Given the description of an element on the screen output the (x, y) to click on. 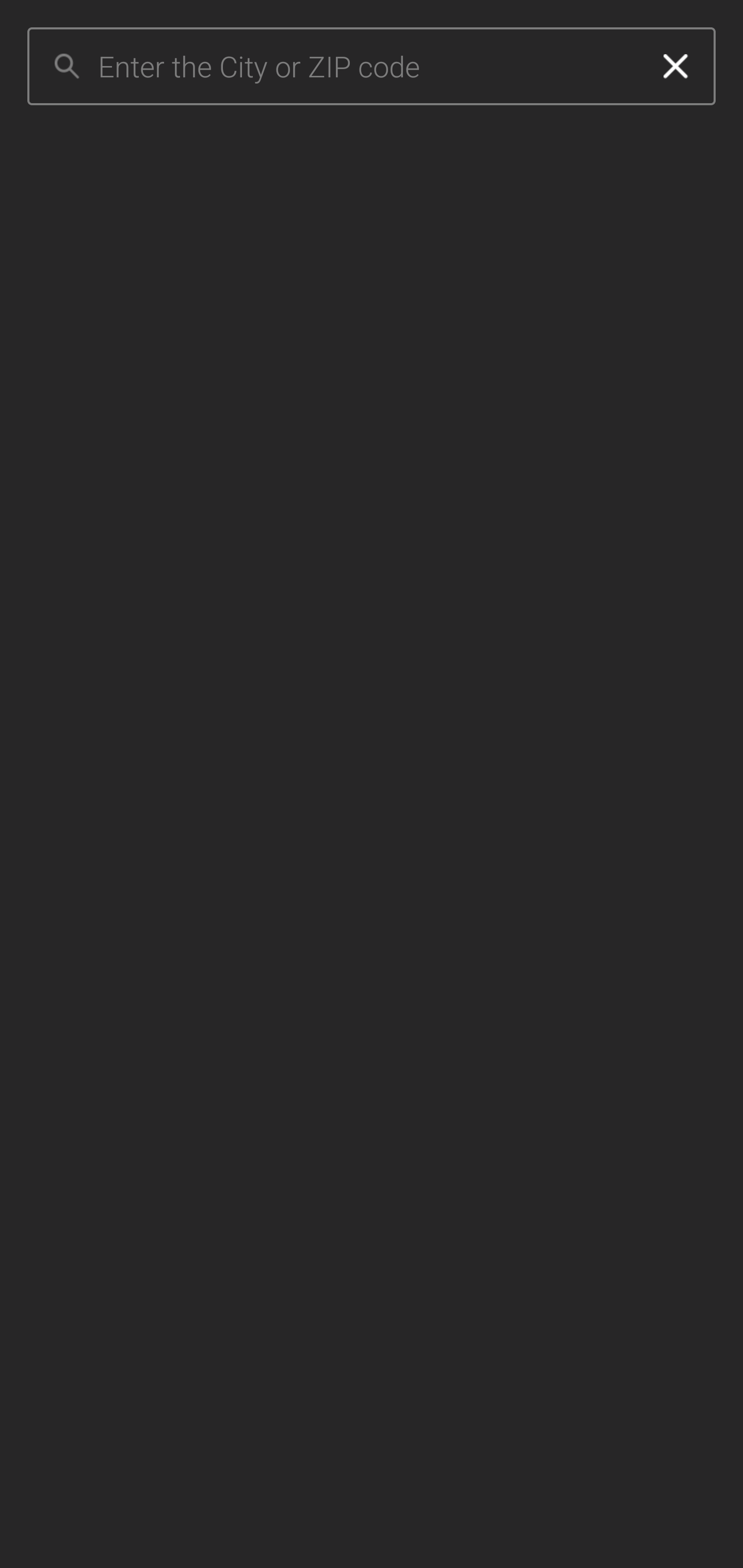
Enter the City or ZIP code (367, 66)
